Given the description of an element on the screen output the (x, y) to click on. 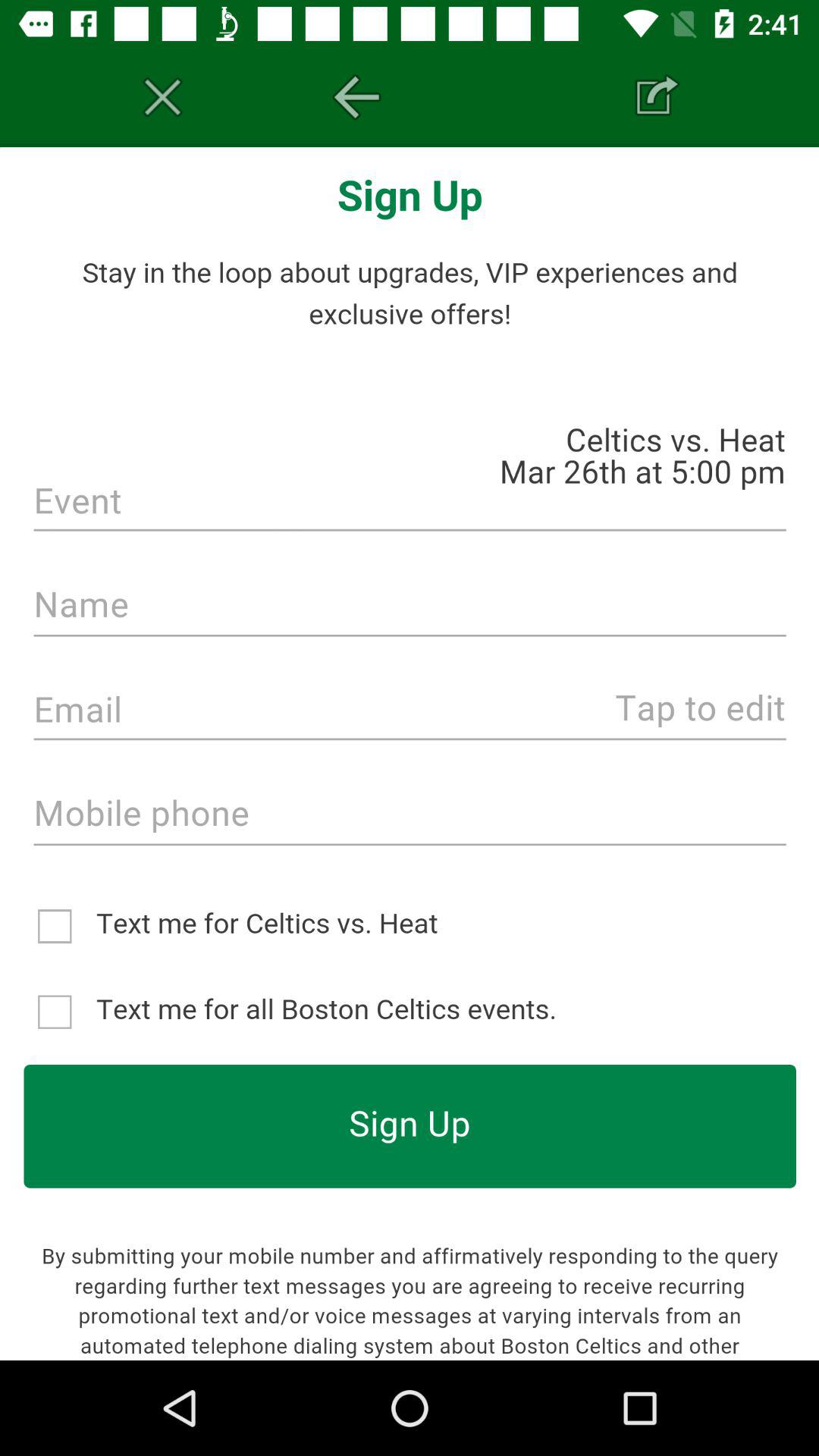
click x icon (162, 97)
